Given the description of an element on the screen output the (x, y) to click on. 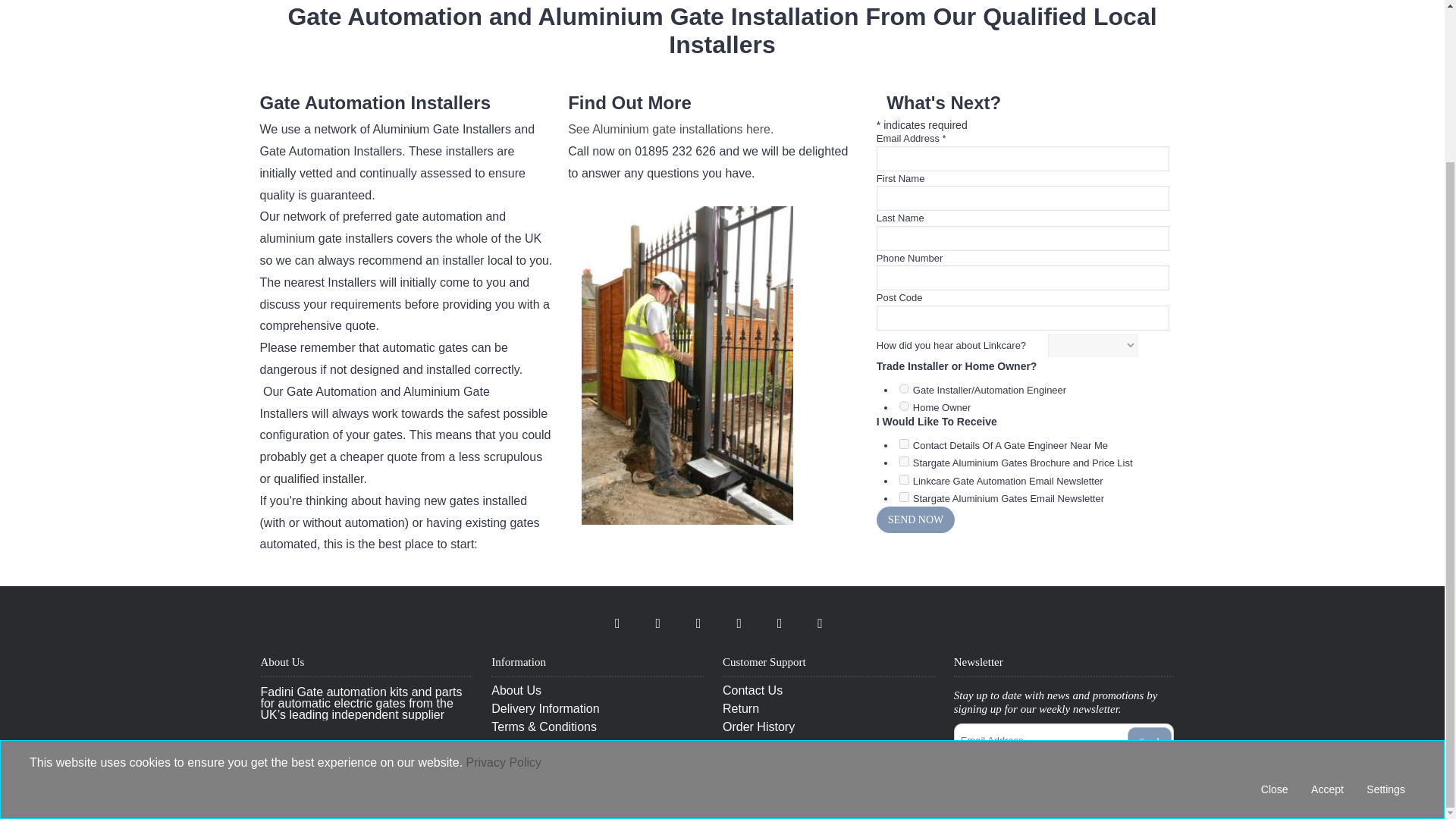
64 (903, 497)
Privacy Policy (597, 745)
Site Map (597, 763)
See Aluminium gate installations here. (670, 128)
About Us (597, 690)
Send Now (915, 519)
16 (903, 388)
8 (903, 479)
32 (903, 406)
1 (903, 443)
Delivery Information (597, 708)
2 (903, 461)
Send Now (915, 519)
